Given the description of an element on the screen output the (x, y) to click on. 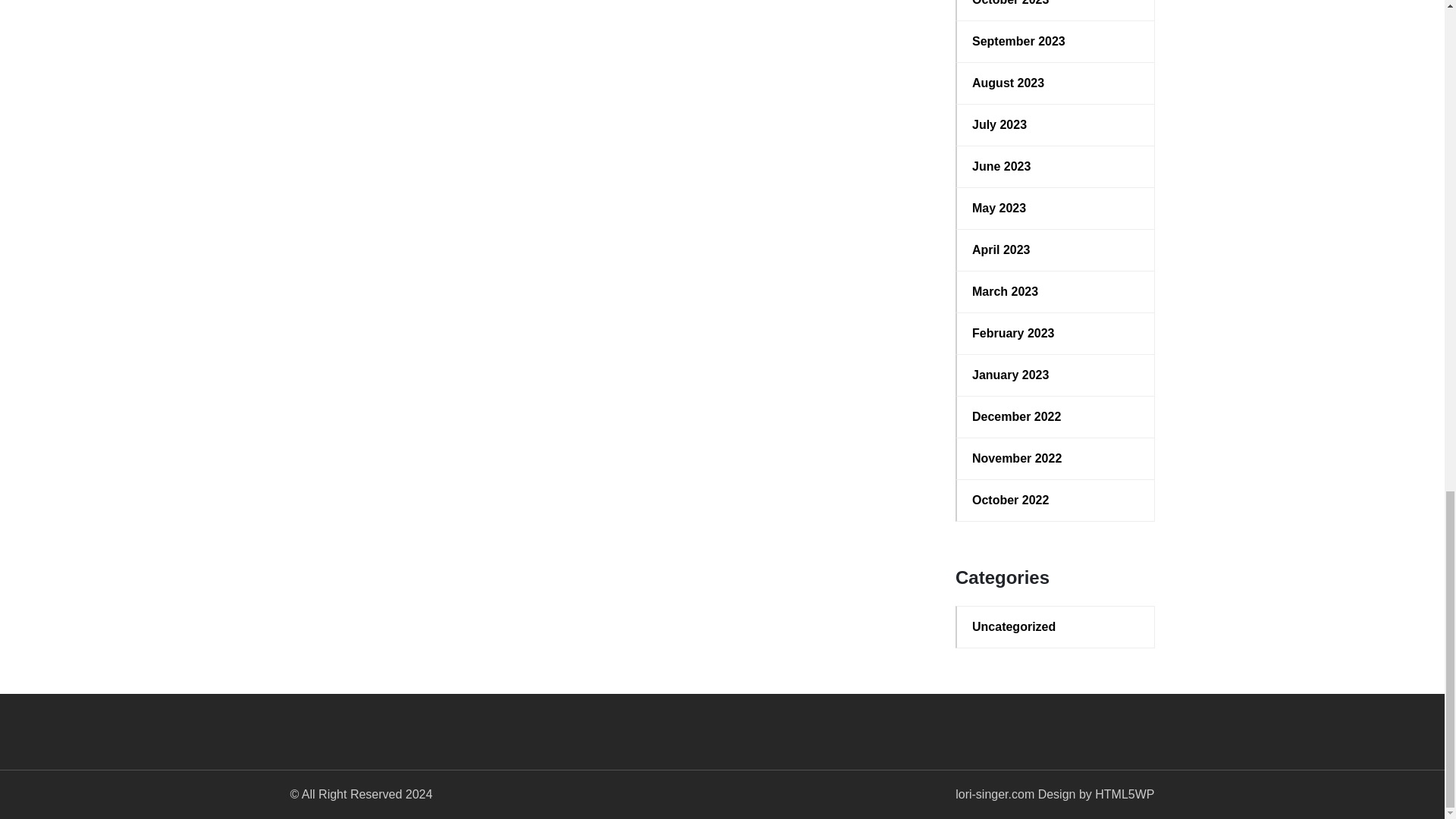
March 2023 (1055, 291)
August 2023 (1055, 83)
December 2022 (1055, 416)
June 2023 (1055, 167)
July 2023 (1055, 125)
October 2022 (1055, 500)
September 2023 (1055, 41)
January 2023 (1055, 375)
February 2023 (1055, 333)
Uncategorized (1055, 627)
May 2023 (1055, 208)
October 2023 (1055, 4)
November 2022 (1055, 458)
April 2023 (1055, 249)
HTML5WP (1124, 793)
